Given the description of an element on the screen output the (x, y) to click on. 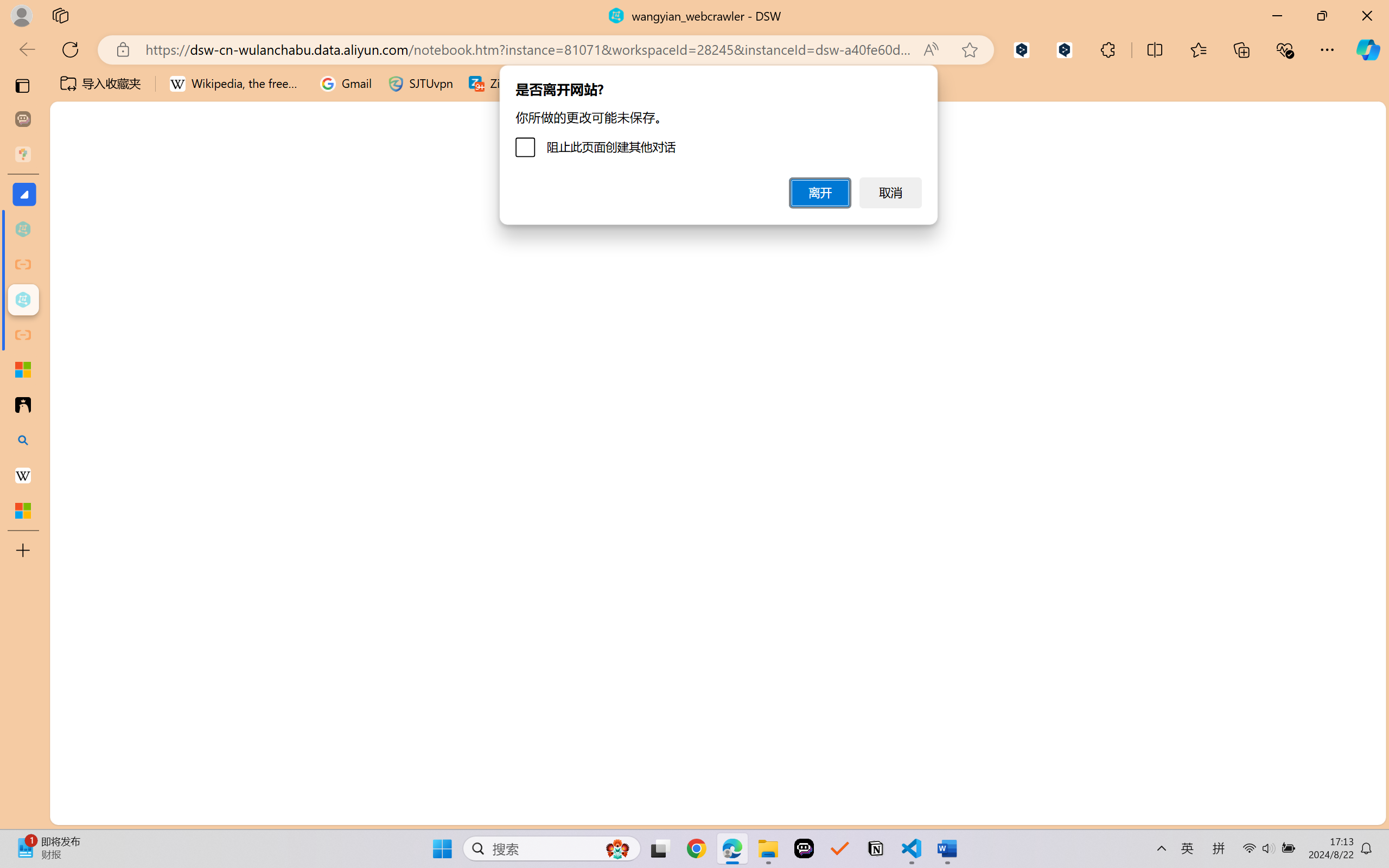
Subtitle Settings (479, 71)
Captions & Subtitles (553, 91)
Catalan (1271, 556)
Chhattisgarhi (1271, 581)
